Given the description of an element on the screen output the (x, y) to click on. 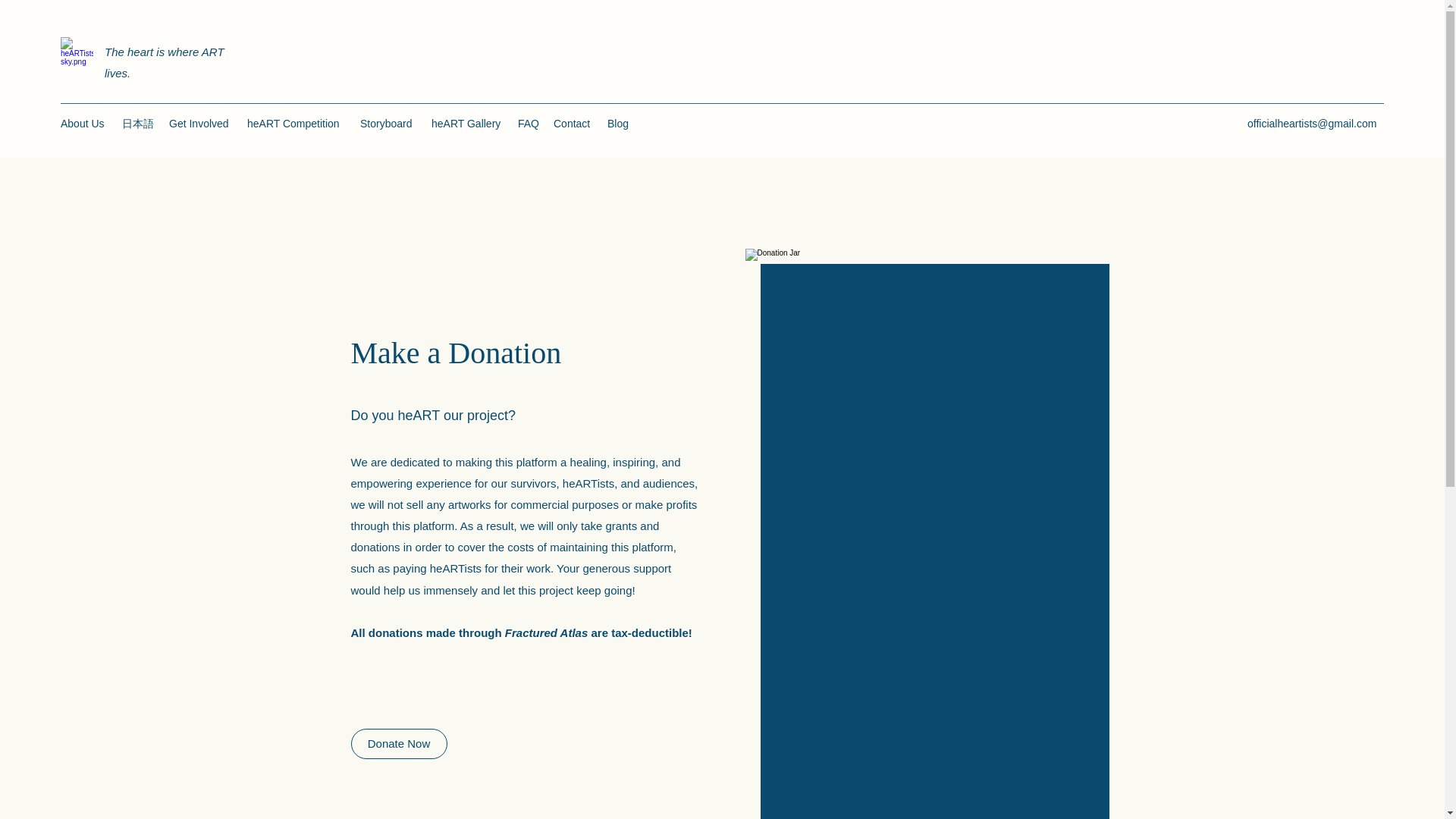
heART Gallery (467, 123)
Storyboard (387, 123)
FAQ (528, 123)
Get Involved (200, 123)
heART Competition (296, 123)
Blog (618, 123)
About Us (83, 123)
Contact (572, 123)
Donate Now (398, 743)
